Given the description of an element on the screen output the (x, y) to click on. 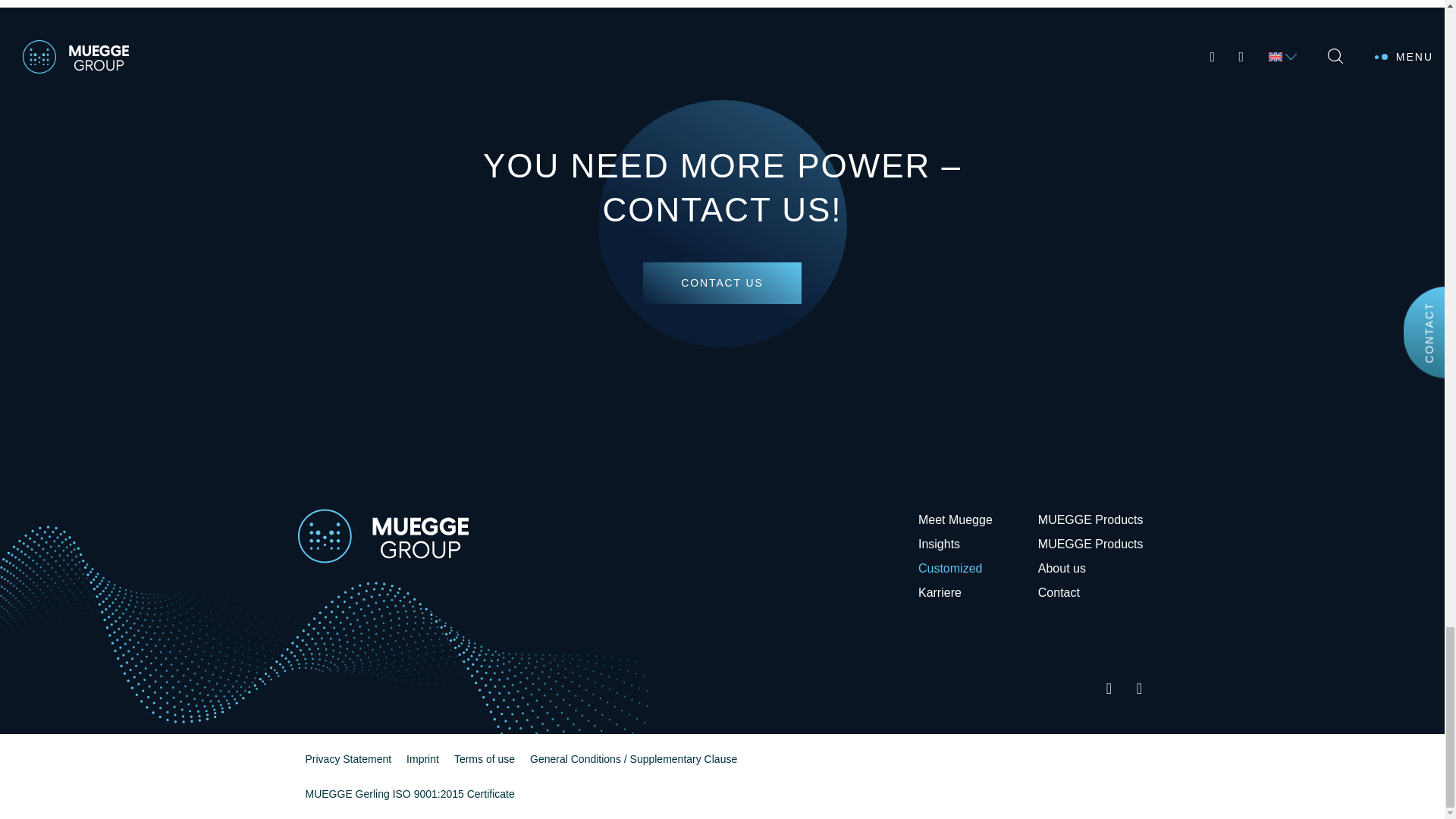
CONTACT US (721, 282)
Customized (949, 568)
Karriere (939, 592)
About us (1061, 568)
Insights (938, 544)
MUEGGE Products (1090, 544)
Meet Muegge (954, 519)
Contact (1058, 592)
MUEGGE Products (1090, 519)
